Given the description of an element on the screen output the (x, y) to click on. 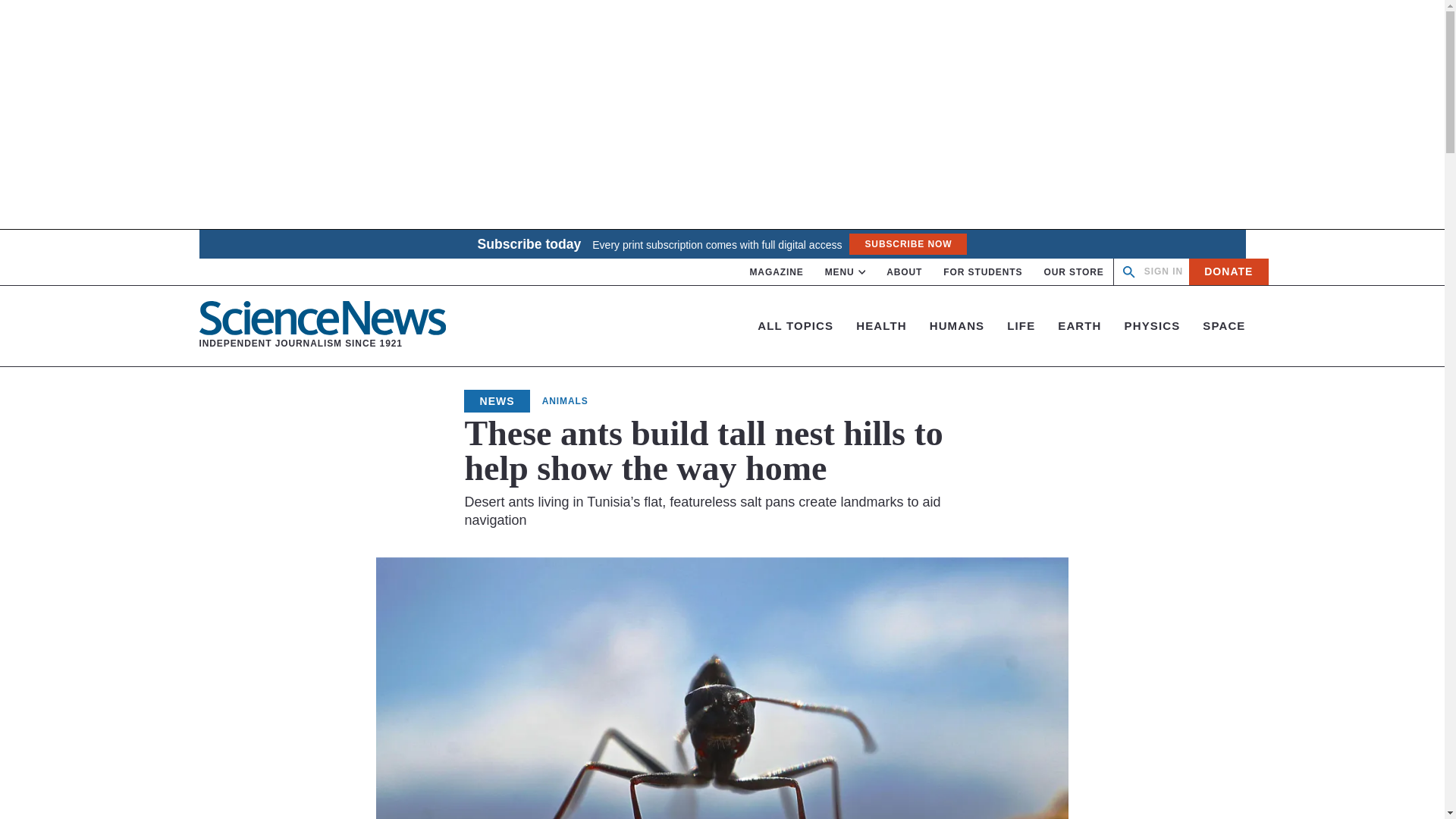
SUBSCRIBE NOW (907, 243)
FOR STUDENTS (982, 271)
MAGAZINE (321, 326)
DONATE (776, 271)
ALL TOPICS (1228, 271)
OUR STORE (794, 325)
MENU (1073, 271)
SIGN IN (845, 271)
ABOUT (1163, 271)
Open search (903, 271)
